Given the description of an element on the screen output the (x, y) to click on. 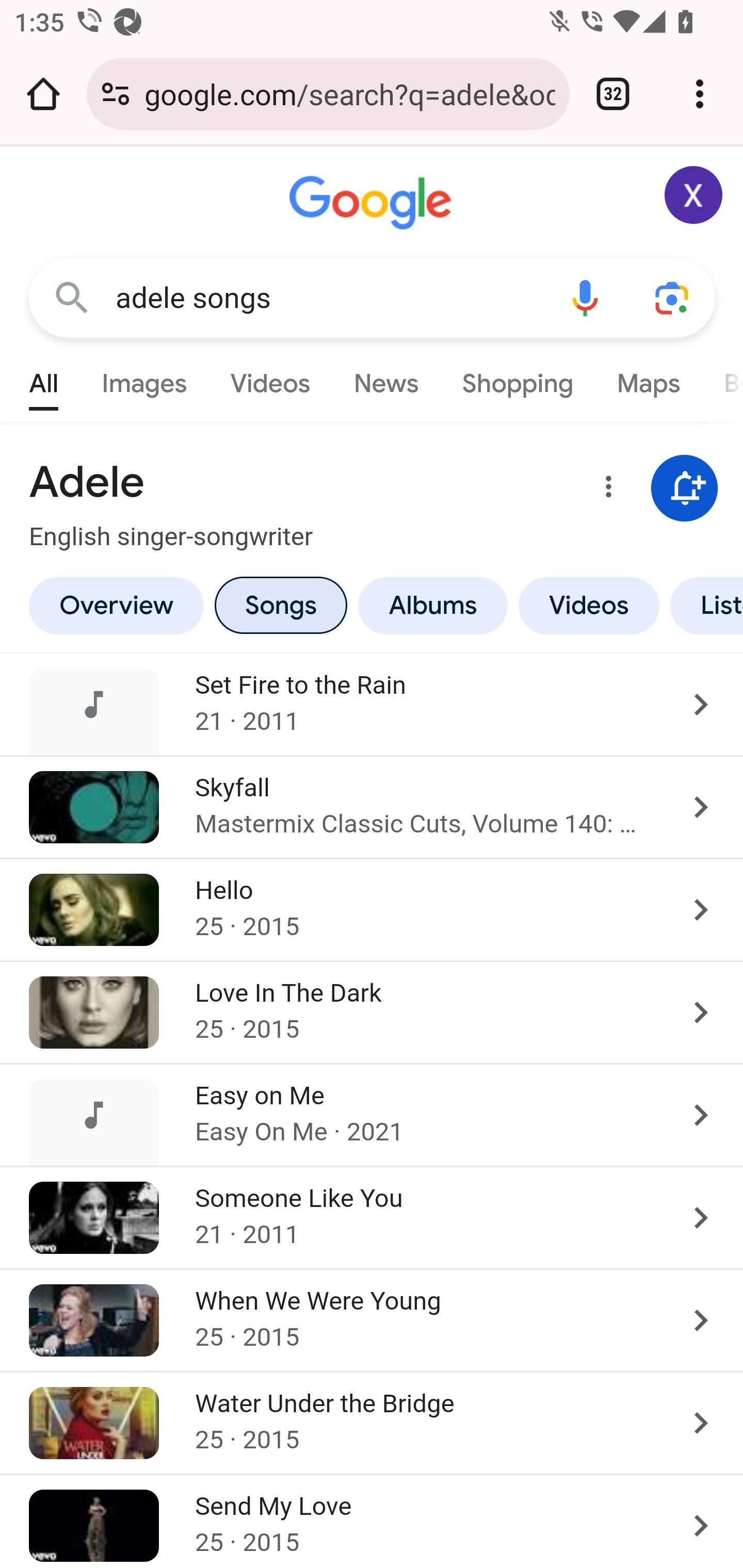
Open the home page (43, 93)
Connection is secure (115, 93)
Switch or close tabs (612, 93)
Customize and control Google Chrome (699, 93)
Google (372, 203)
Google Account: Xiaoran (zxrappiumtest@gmail.com) (694, 195)
Google Search (71, 296)
Search using your camera or photos (672, 296)
adele songs (328, 297)
Images (144, 378)
Videos (270, 378)
News (385, 378)
Shopping (516, 378)
Maps (647, 378)
Get notifications about Adele (684, 489)
More options (605, 489)
Overview (116, 605)
Songs (280, 605)
Albums (433, 605)
Videos (589, 605)
Hello 25 · 2015 Hello 25 · 2015 (371, 909)
Send My Love 25 · 2015 Send My Love 25 · 2015 (371, 1520)
